Given the description of an element on the screen output the (x, y) to click on. 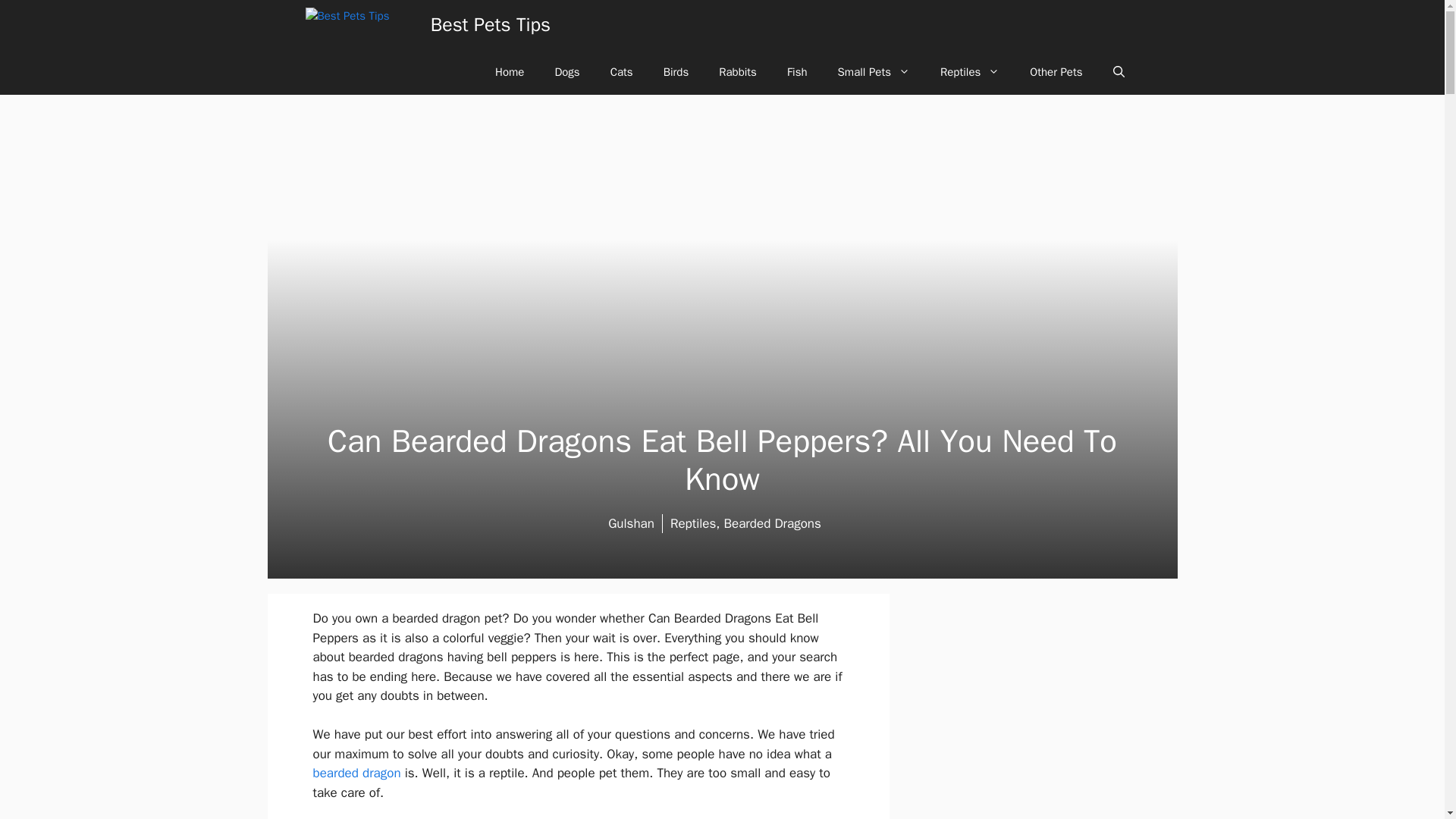
Best Pets Tips (490, 24)
Home (509, 72)
Dogs (566, 72)
Cats (621, 72)
Birds (675, 72)
bearded dragon (356, 772)
Rabbits (737, 72)
Best Pets Tips (363, 24)
Fish (796, 72)
Other Pets (1055, 72)
